Given the description of an element on the screen output the (x, y) to click on. 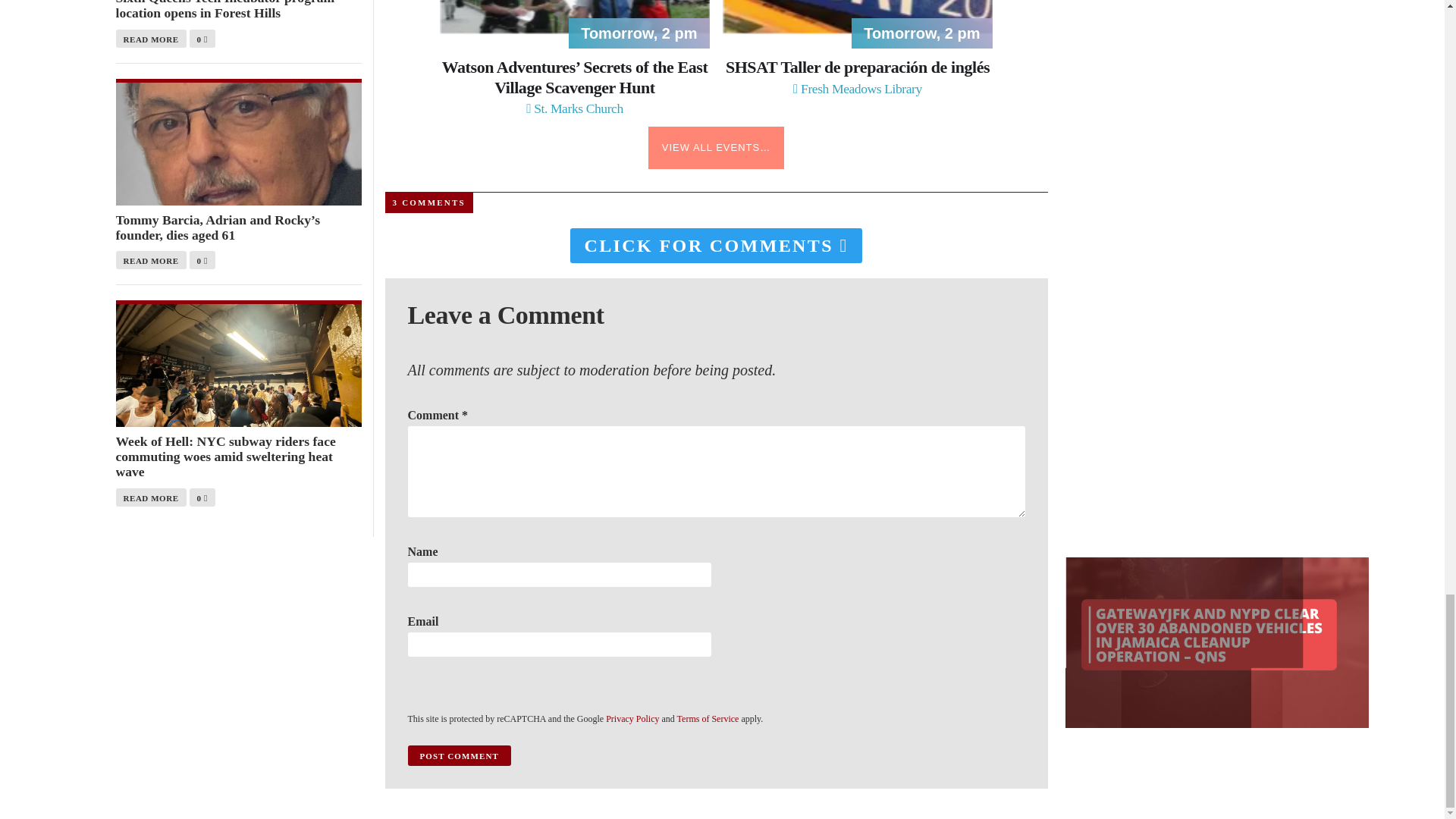
Post Comment (459, 755)
